Given the description of an element on the screen output the (x, y) to click on. 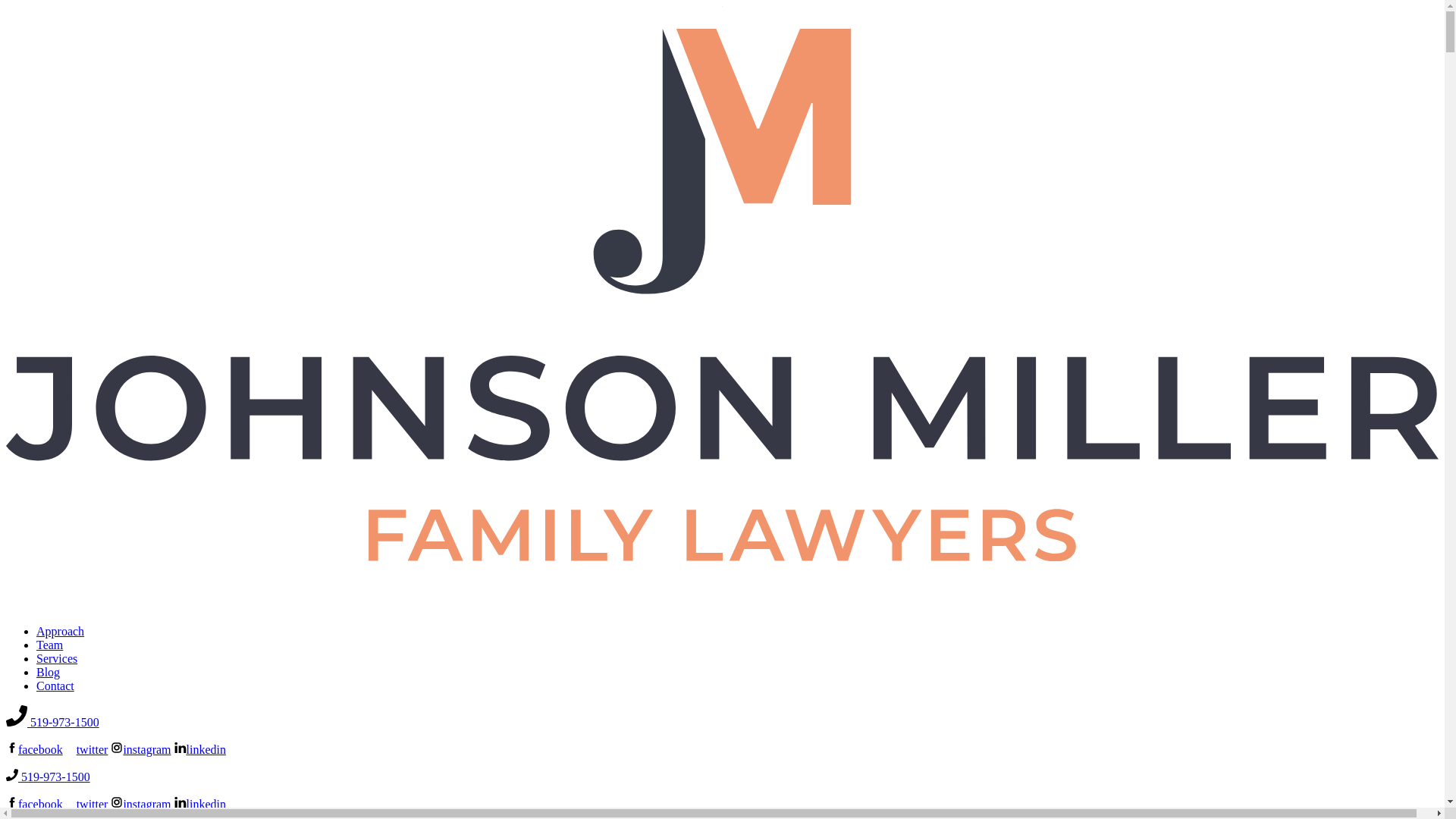
linkedin (199, 803)
linkedin (199, 748)
519-973-1500 (47, 776)
519-973-1500 (52, 721)
Blog (47, 671)
Approach (60, 631)
Contact (55, 685)
Team (49, 644)
facebook (33, 803)
facebook (33, 748)
twitter (86, 748)
instagram (140, 803)
instagram (140, 748)
twitter (86, 803)
Services (56, 658)
